Given the description of an element on the screen output the (x, y) to click on. 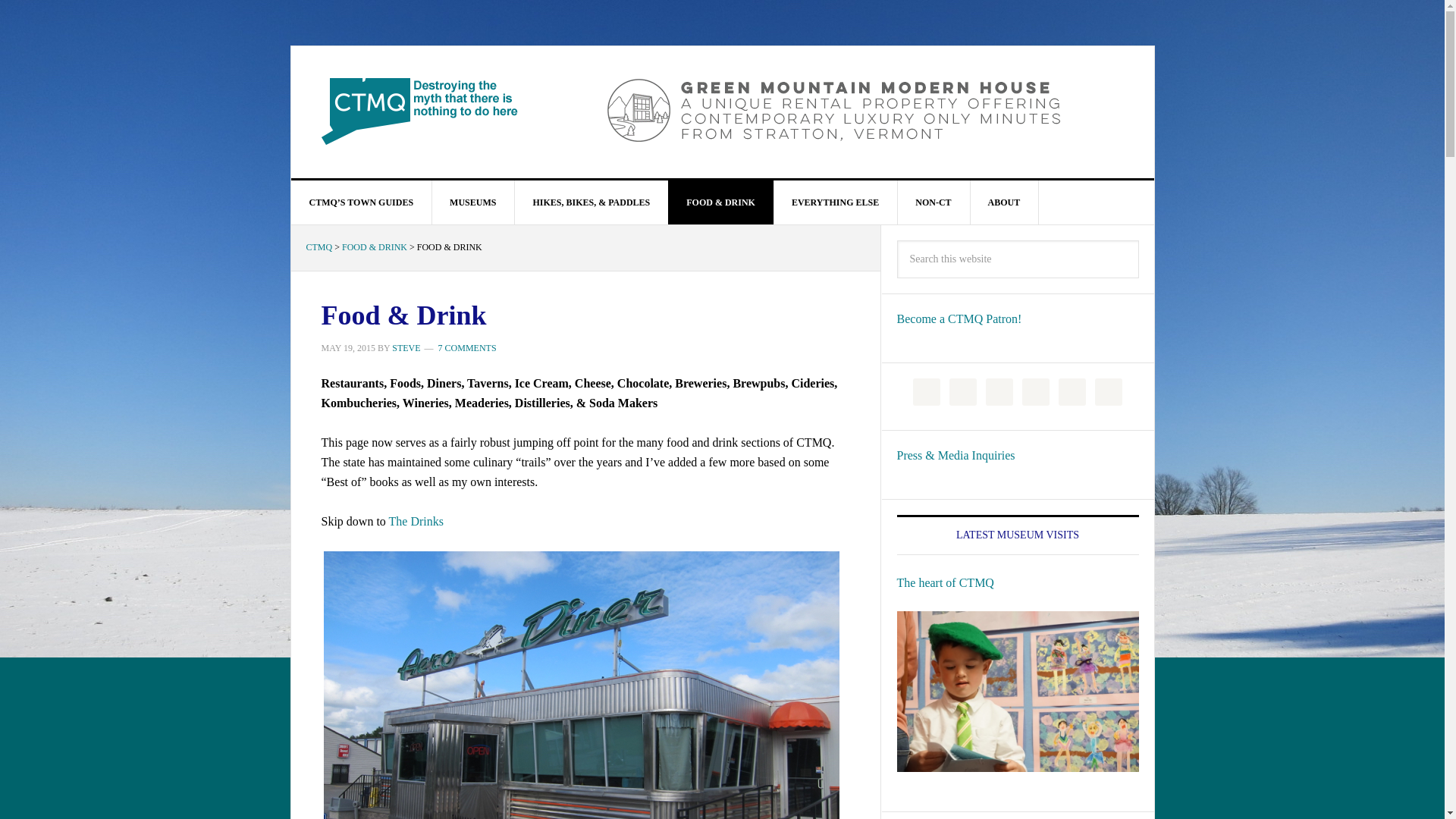
CTMQ (419, 110)
EVERYTHING ELSE (835, 202)
NON-CT (932, 202)
ABOUT (1004, 202)
MUSEUMS (472, 202)
Go to CTMQ. (319, 246)
